Given the description of an element on the screen output the (x, y) to click on. 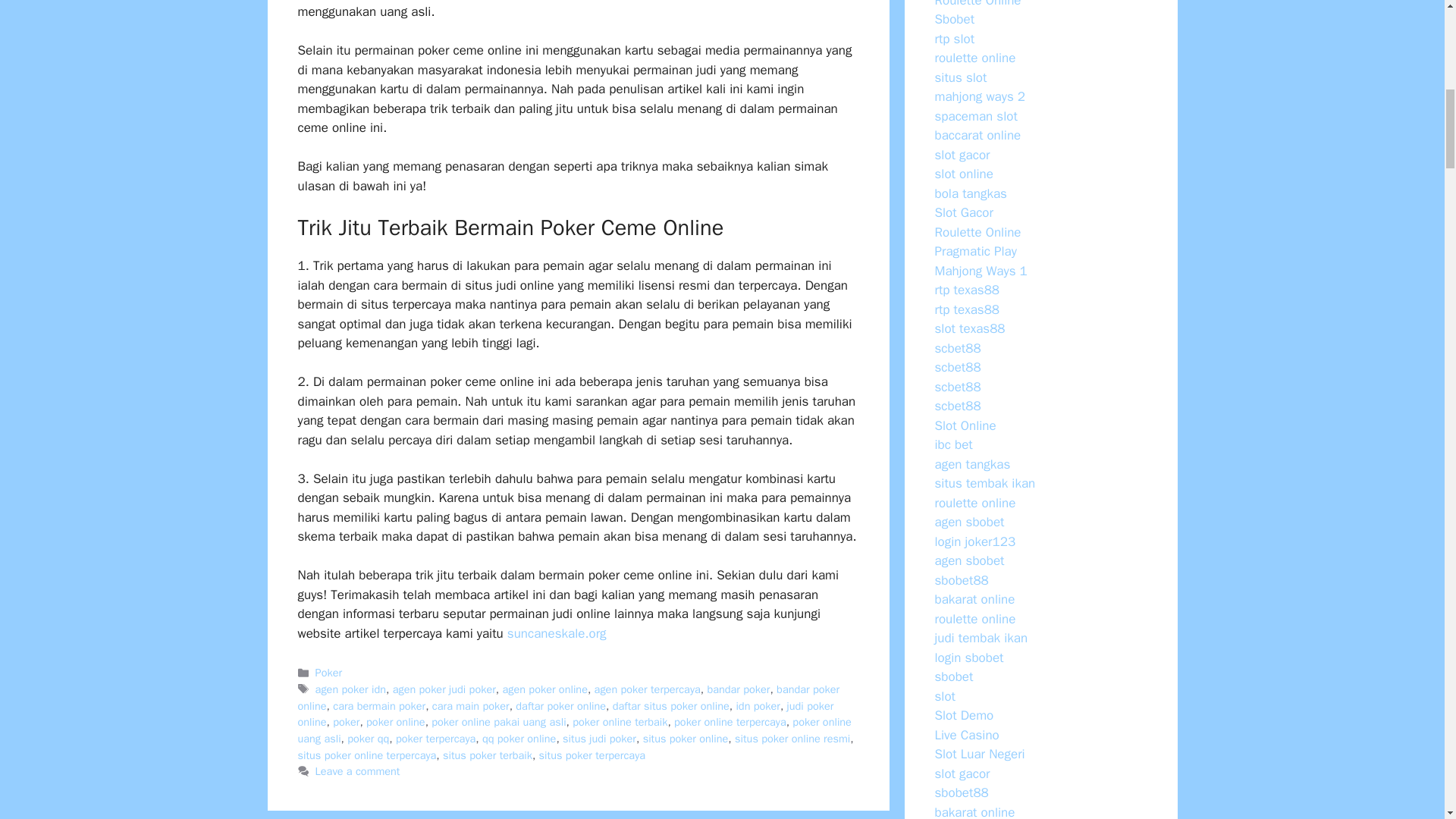
poker online uang asli (573, 729)
agen poker online (544, 689)
agen poker idn (350, 689)
daftar situs poker online (670, 705)
situs poker online terpercaya (366, 755)
poker qq (367, 738)
cara bermain poker (379, 705)
agen poker judi poker (444, 689)
poker online pakai uang asli (498, 721)
poker (346, 721)
